Given the description of an element on the screen output the (x, y) to click on. 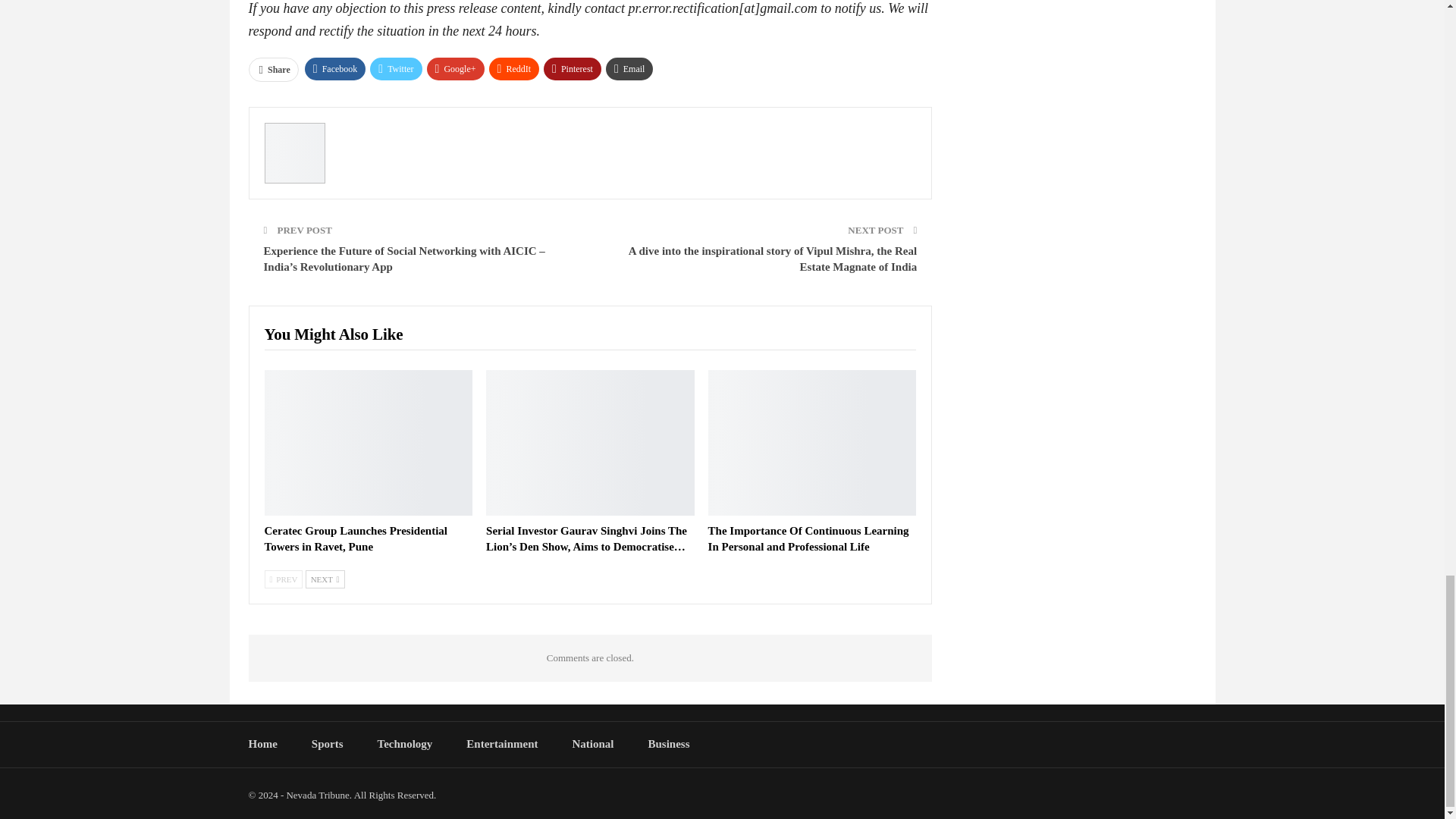
Twitter (395, 68)
Ceratec Group Launches Presidential Towers in Ravet, Pune (354, 538)
Email (629, 68)
Pinterest (572, 68)
Facebook (335, 68)
You Might Also Like (333, 335)
ReddIt (514, 68)
Next (325, 579)
Previous (282, 579)
Ceratec Group Launches Presidential Towers in Ravet, Pune (367, 442)
Ceratec Group Launches Presidential Towers in Ravet, Pune (354, 538)
